Given the description of an element on the screen output the (x, y) to click on. 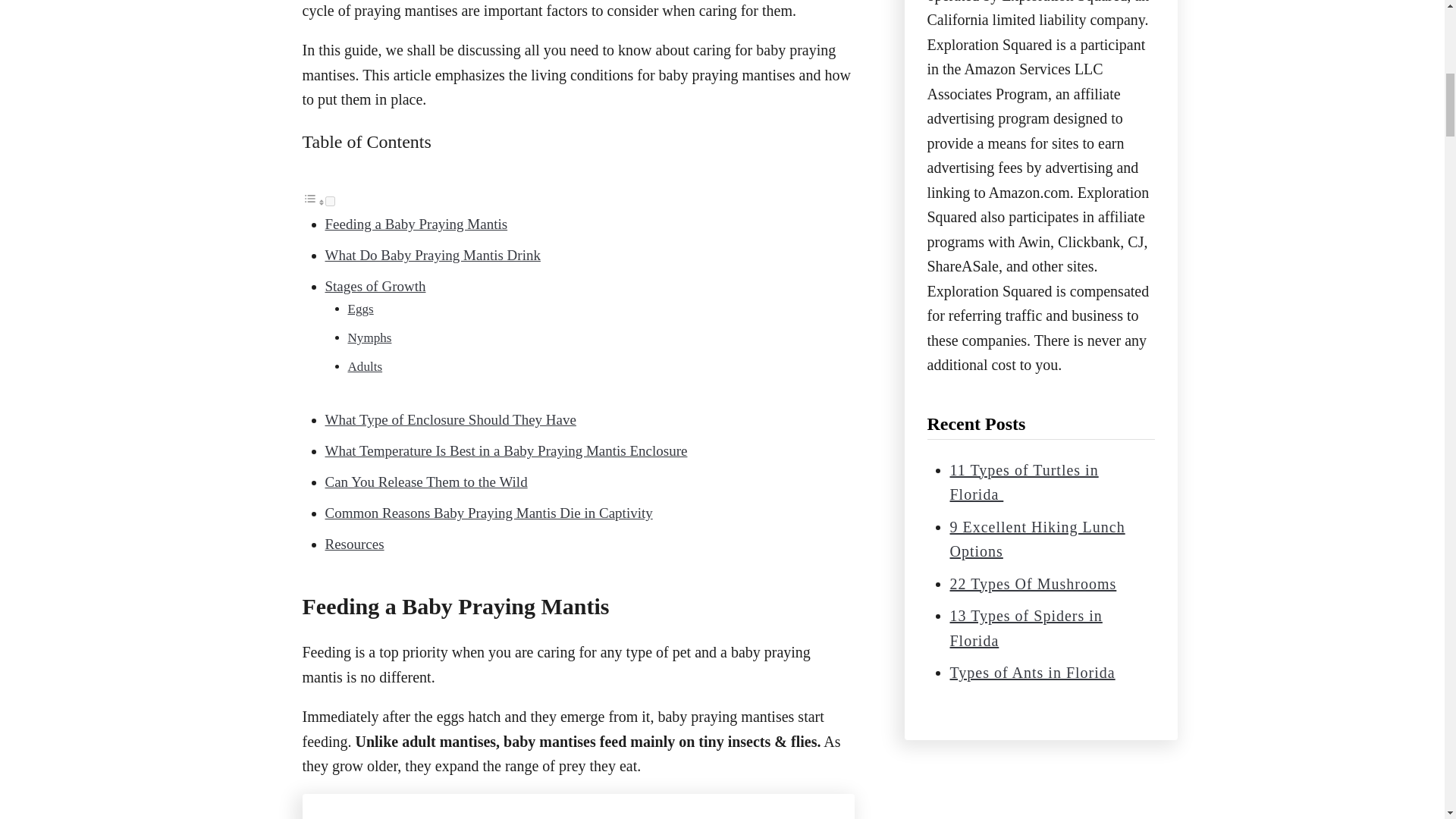
Stages of Growth (374, 286)
Common Reasons Baby Praying Mantis Die in Captivity (488, 512)
Eggs (359, 309)
Can You Release Them to the Wild (425, 481)
Feeding a Baby Praying Mantis (415, 223)
What Temperature Is Best in a Baby Praying Mantis Enclosure (505, 450)
on (329, 201)
Resources (354, 544)
Adults (364, 366)
What Do Baby Praying Mantis Drink (432, 254)
What Do Baby Praying Mantis Drink (432, 254)
Eggs (359, 309)
Nymphs (369, 337)
Resources (354, 544)
Can You Release Them to the Wild (425, 481)
